Given the description of an element on the screen output the (x, y) to click on. 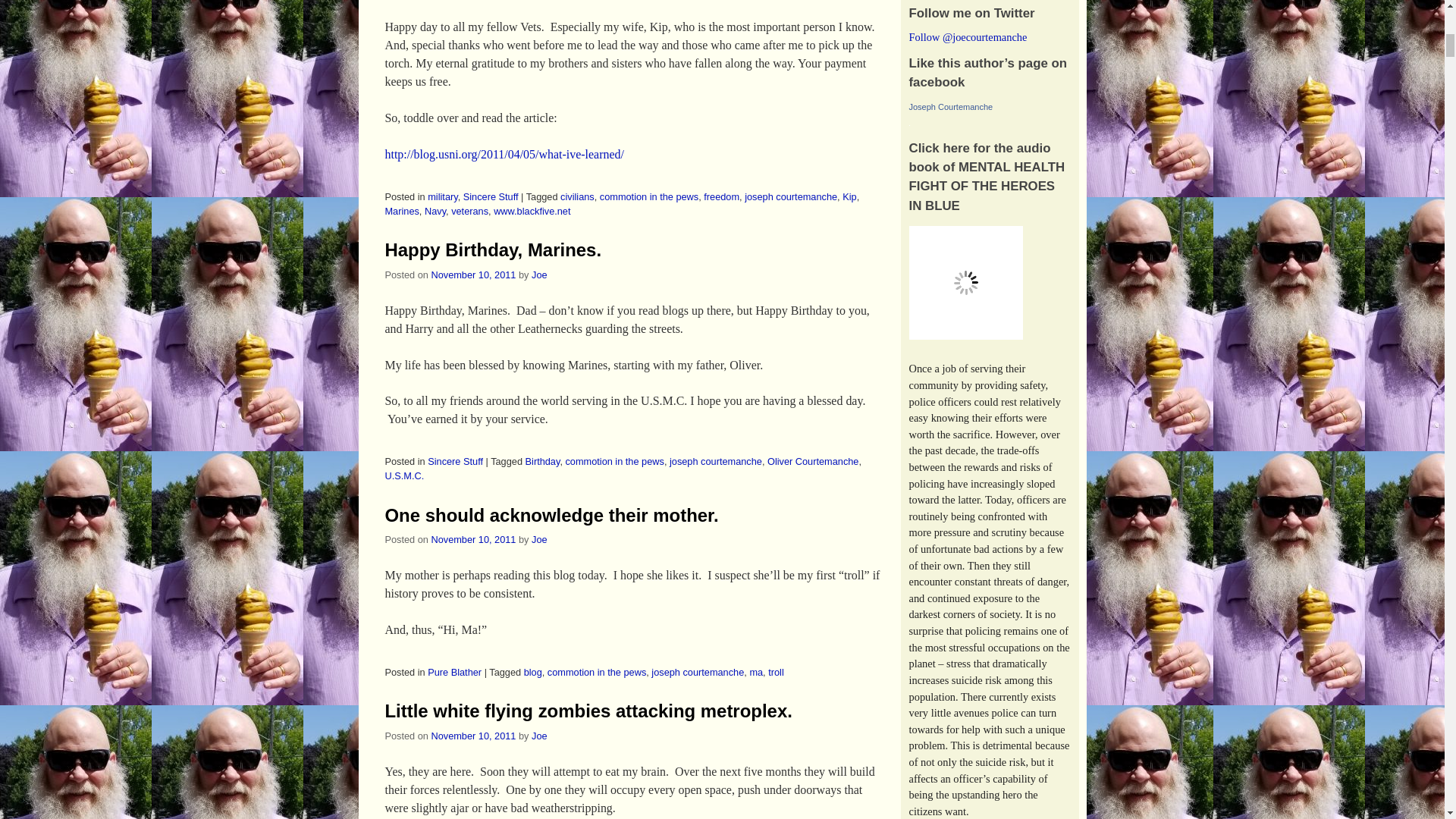
Happy Birthday, Marines. (493, 249)
Permalink to Happy Birthday, Marines. (493, 249)
View all posts by Joe (539, 274)
commotion in the pews (648, 196)
November 10, 2011 (472, 274)
View all posts by Joe (539, 736)
military (442, 196)
Sincere Stuff (490, 196)
Marines (402, 211)
veterans (469, 211)
Navy (435, 211)
www.blackfive.net (531, 211)
civilians (577, 196)
20:57 (472, 274)
20:49 (472, 539)
